Given the description of an element on the screen output the (x, y) to click on. 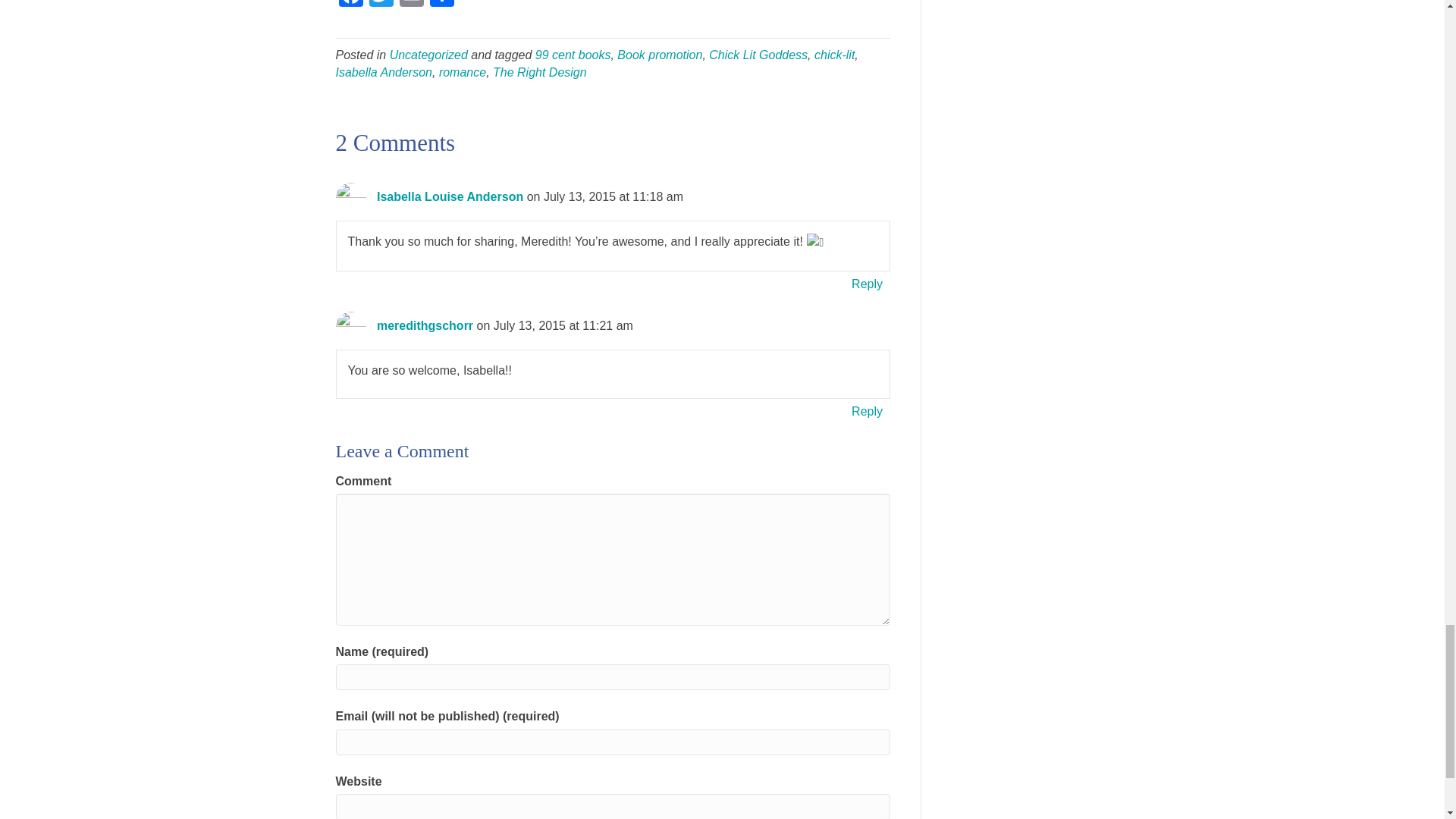
chick-lit (833, 54)
Reply (866, 411)
Facebook (349, 5)
99 cent books (573, 54)
Chick Lit Goddess (758, 54)
Email (411, 5)
Uncategorized (428, 54)
Twitter (380, 5)
Reply (866, 283)
Book promotion (659, 54)
